Given the description of an element on the screen output the (x, y) to click on. 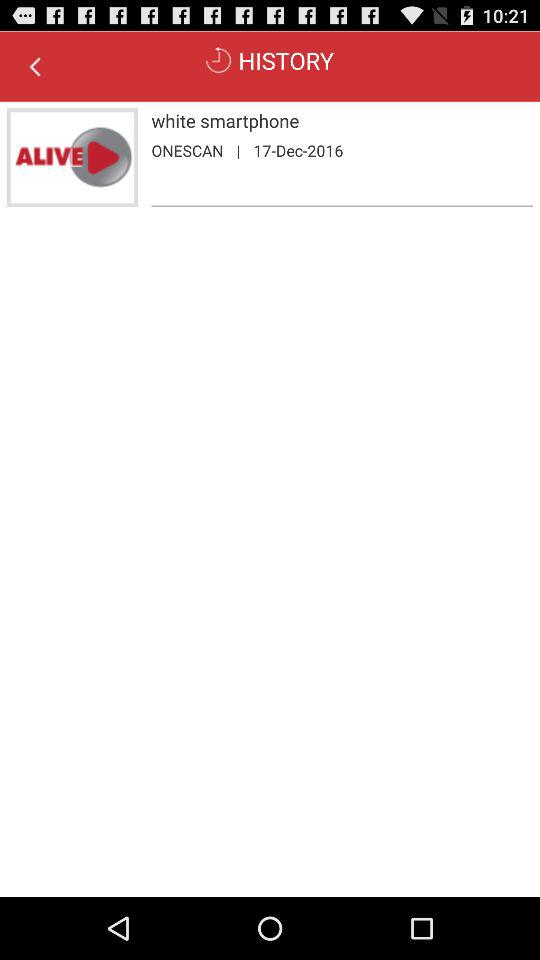
turn off icon next to the | (187, 150)
